Given the description of an element on the screen output the (x, y) to click on. 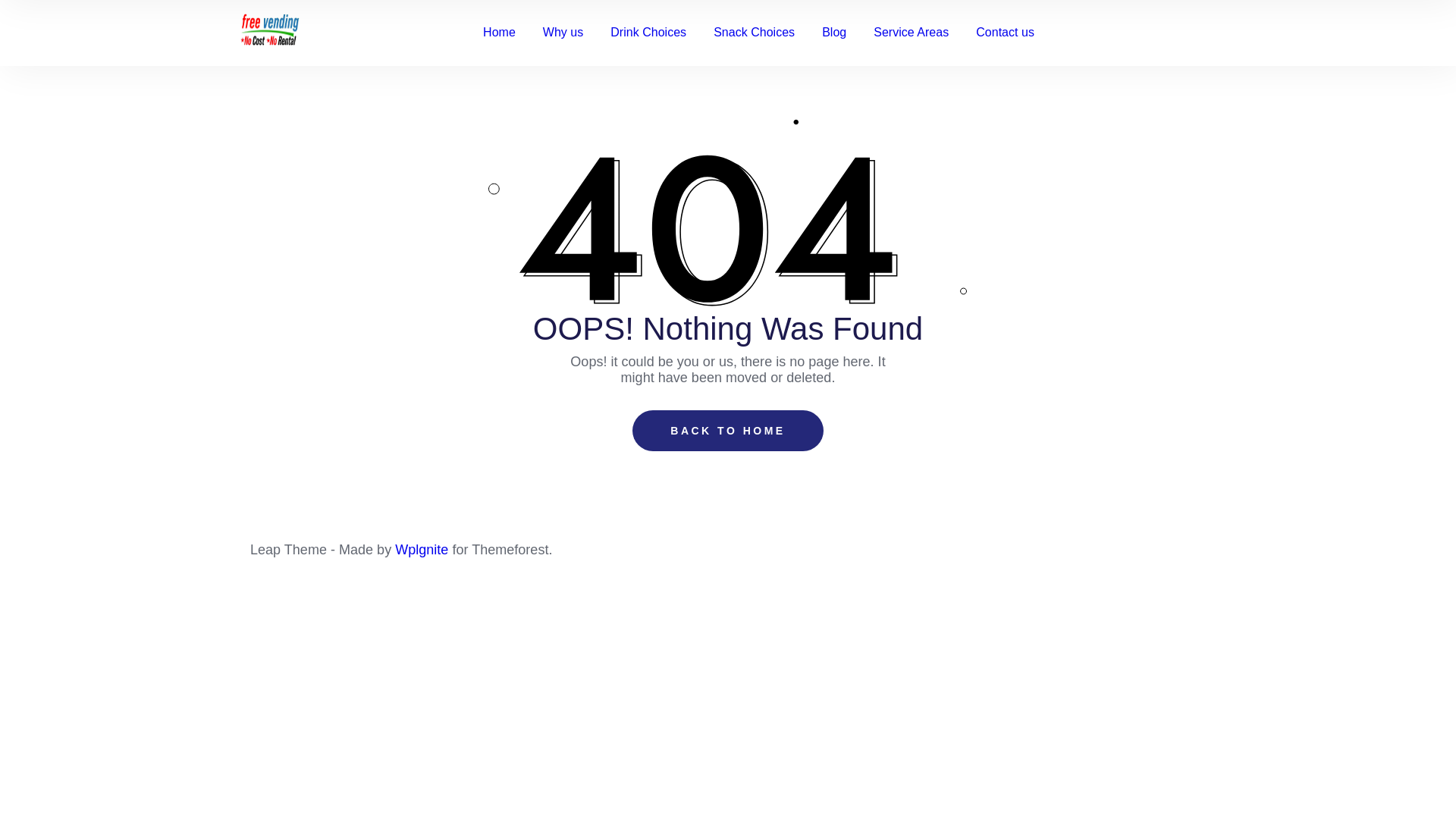
Wplgnite (422, 549)
Service Areas (911, 33)
Home (498, 33)
Contact us (1005, 33)
Why us (562, 33)
BACK TO HOME (726, 430)
Drink Choices (648, 33)
Snack Choices (754, 33)
